Given the description of an element on the screen output the (x, y) to click on. 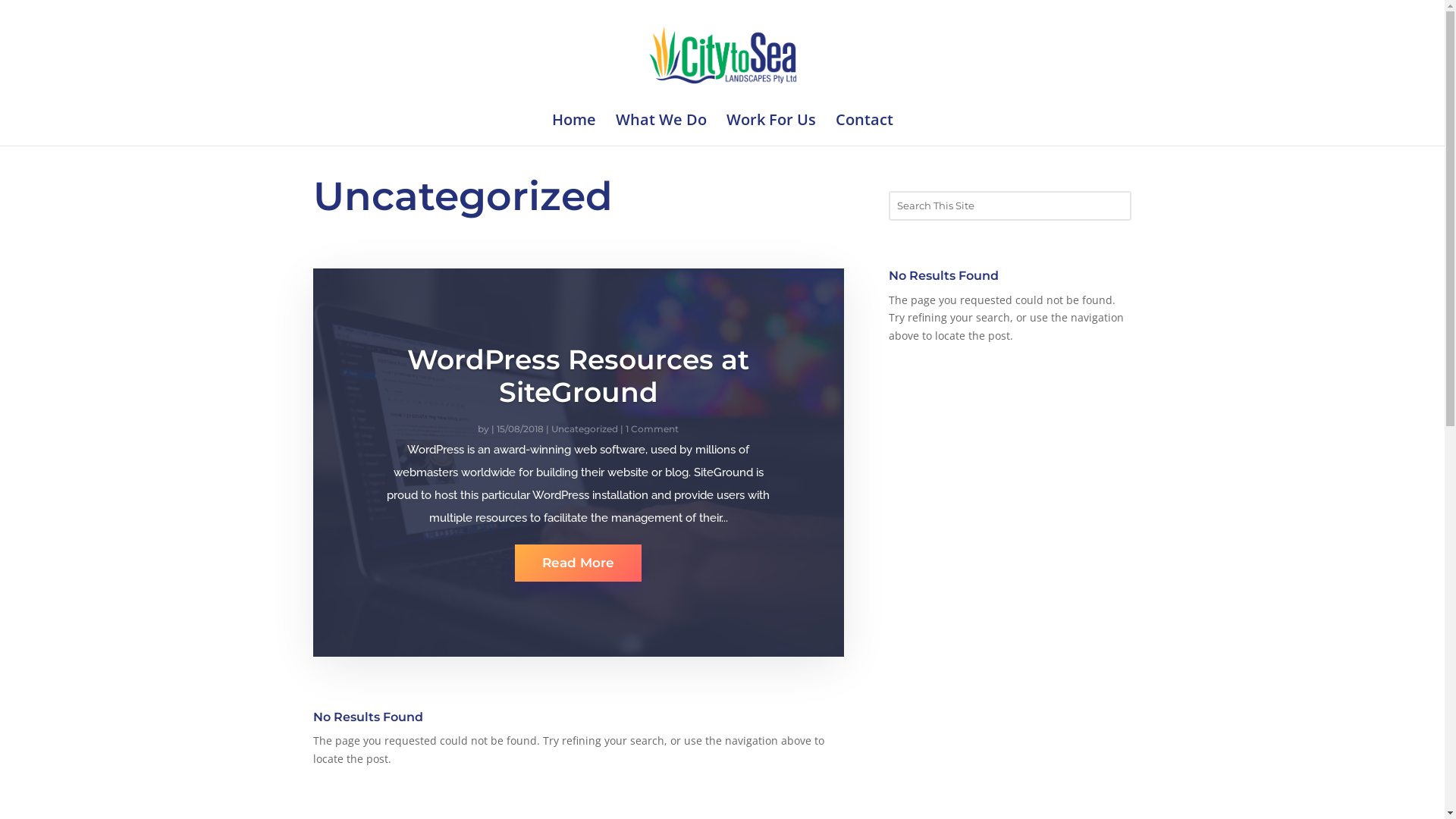
Read More Element type: text (577, 562)
Uncategorized Element type: text (584, 428)
Search Element type: text (25, 14)
WordPress Resources at SiteGround Element type: text (578, 375)
Contact Element type: text (864, 129)
What We Do Element type: text (660, 129)
Work For Us Element type: text (770, 129)
Home Element type: text (574, 129)
